Given the description of an element on the screen output the (x, y) to click on. 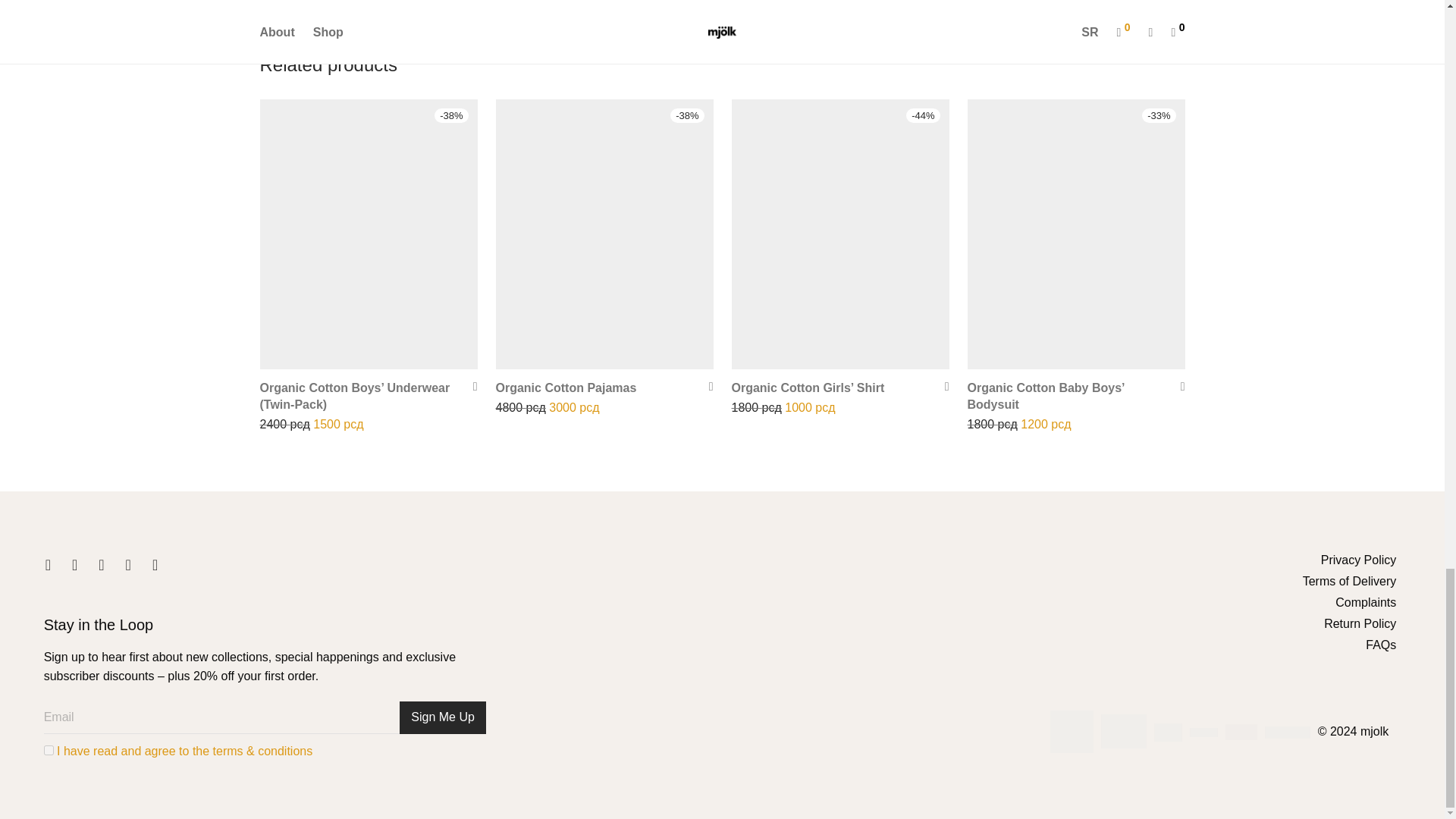
Add to Wishlist (470, 386)
Pinterest (128, 564)
LinkedIn (101, 564)
Sign Me Up (442, 717)
Add to Wishlist (705, 386)
Organic Cotton Pajamas (566, 387)
Add to Wishlist (941, 386)
1 (48, 750)
Facebook (47, 564)
Instagram (74, 564)
Add to Wishlist (1177, 386)
